Given the description of an element on the screen output the (x, y) to click on. 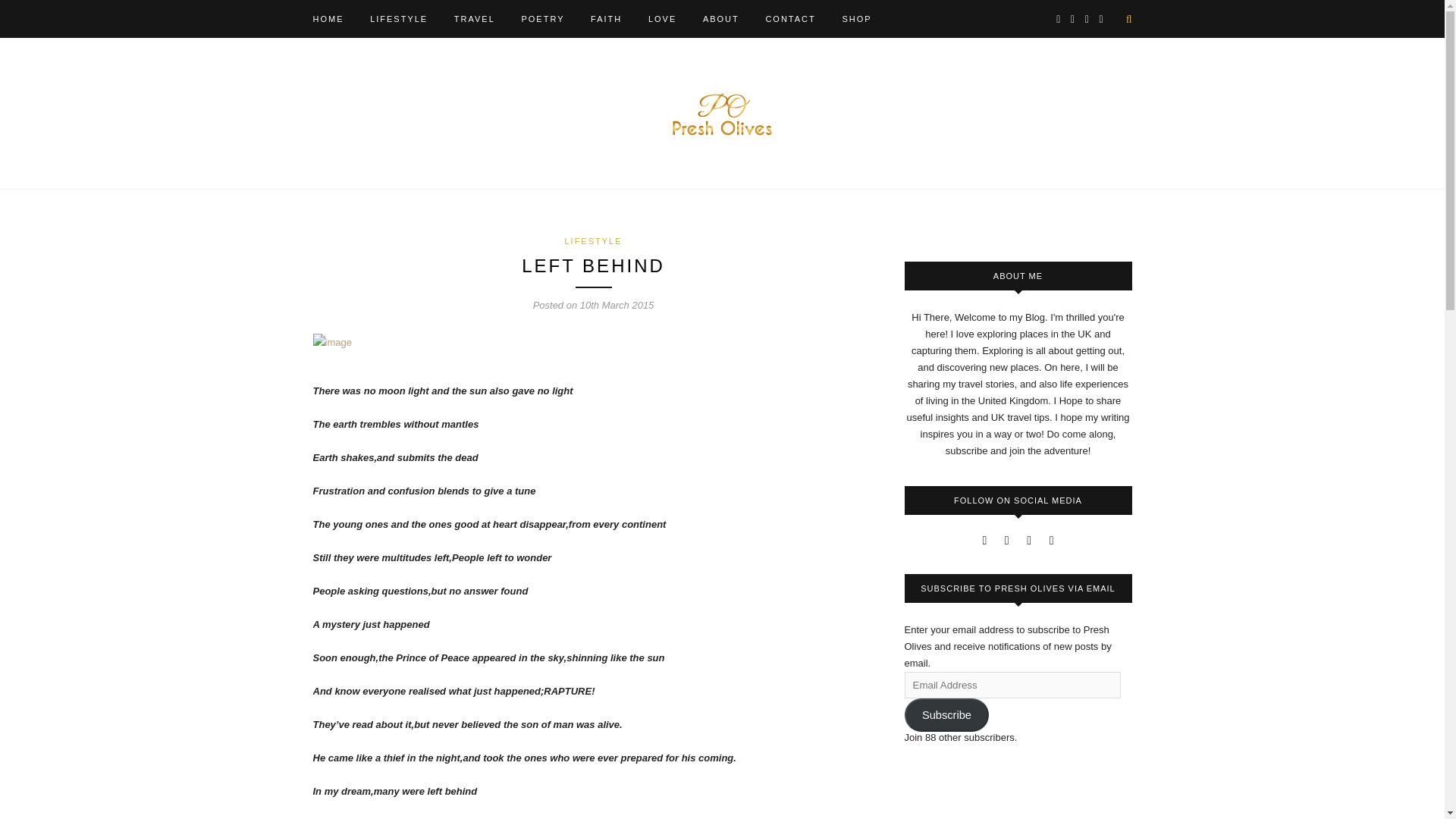
SHOP (855, 18)
LOVE (662, 18)
POETRY (542, 18)
CONTACT (790, 18)
ABOUT (721, 18)
unnamed-2.jpeg (331, 342)
HOME (328, 18)
FAITH (606, 18)
TRAVEL (474, 18)
LIFESTYLE (592, 240)
LIFESTYLE (398, 18)
